Given the description of an element on the screen output the (x, y) to click on. 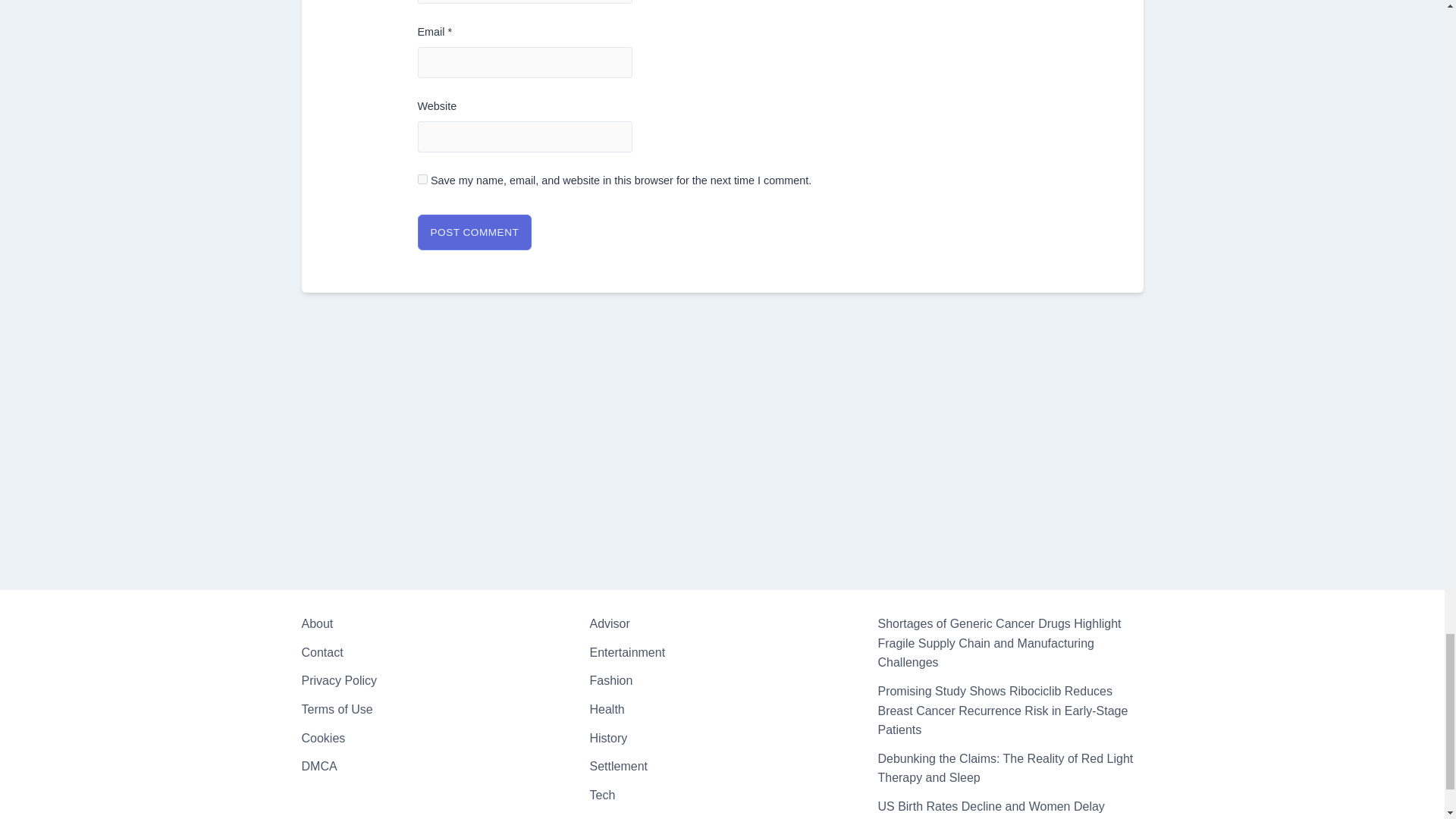
yes (421, 179)
About (317, 623)
Terms of Use (336, 708)
Post Comment (473, 232)
Privacy Policy (339, 680)
Fashion (610, 680)
History (608, 737)
Tech (601, 794)
Settlement (617, 766)
Cookies (323, 737)
Advisor (608, 623)
DMCA (319, 766)
